Given the description of an element on the screen output the (x, y) to click on. 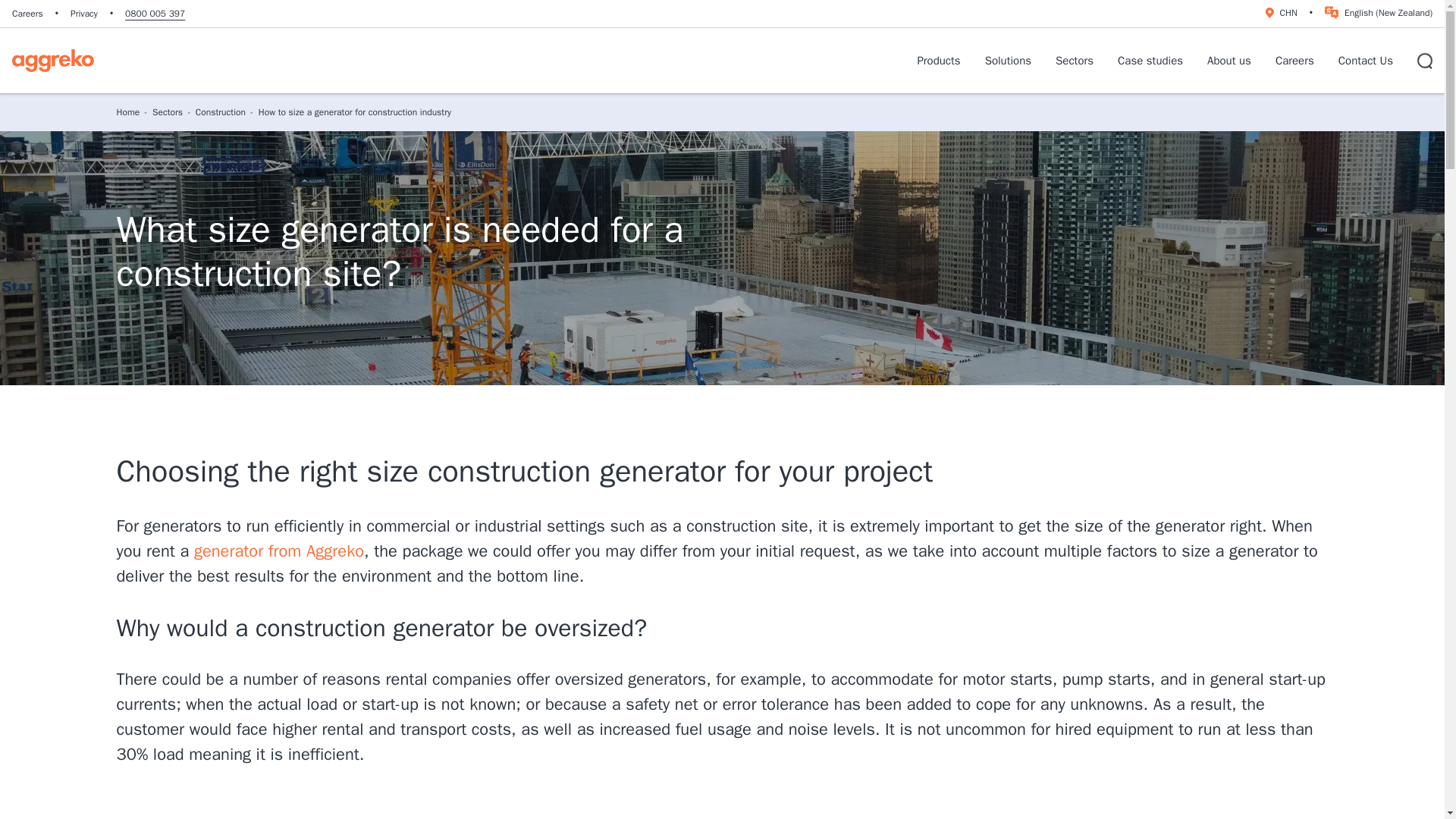
Privacy (83, 13)
Products (938, 60)
Privacy (83, 13)
Careers (27, 13)
Products (938, 60)
Language and Location (1278, 12)
Call us (154, 13)
CHN (1278, 12)
Solutions (1007, 60)
0800 005 397 (154, 13)
Careers (27, 13)
